Given the description of an element on the screen output the (x, y) to click on. 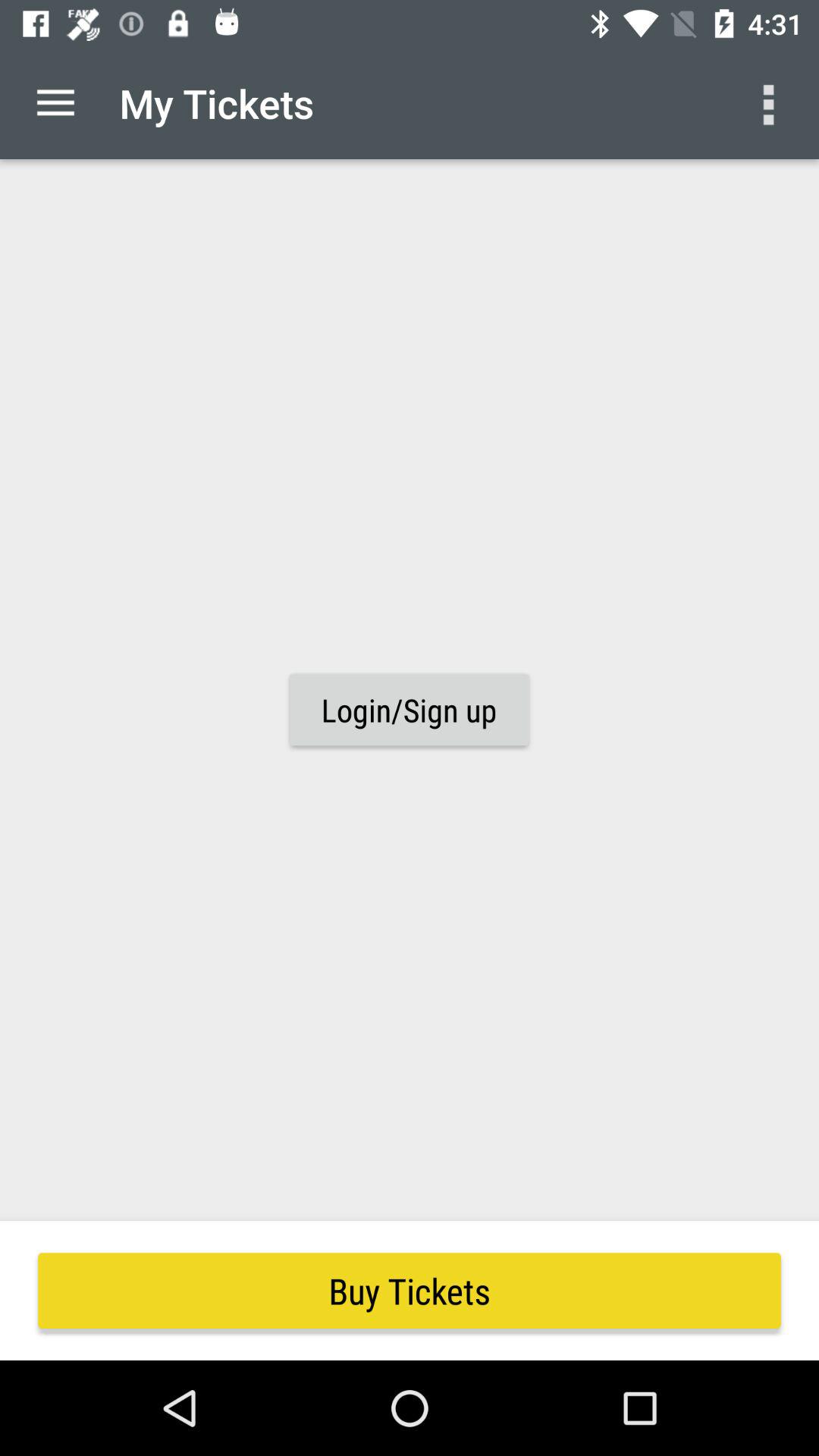
click the app below my tickets item (408, 709)
